Given the description of an element on the screen output the (x, y) to click on. 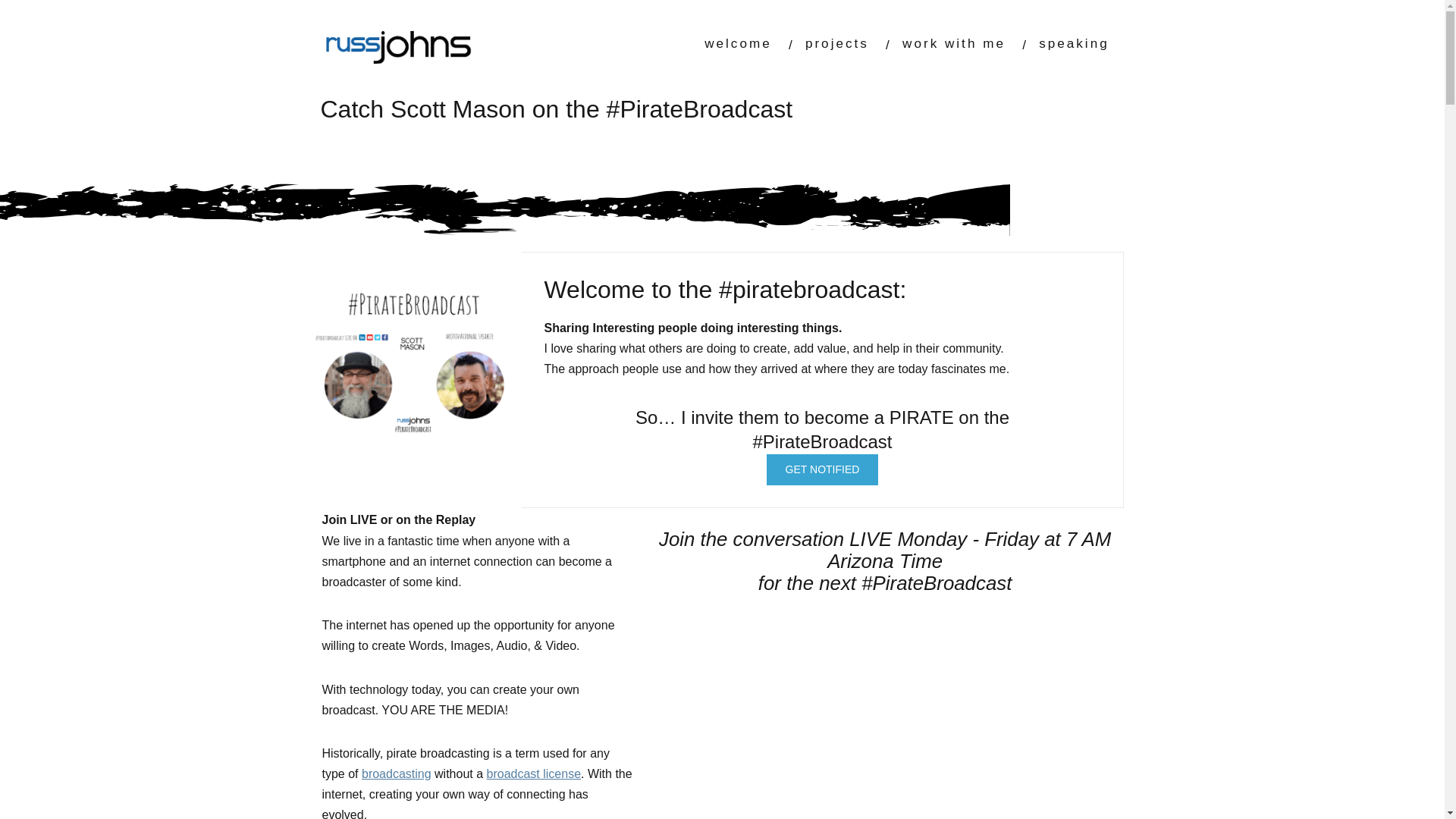
broadcast license (533, 773)
speaking (1073, 43)
broadcasting (395, 773)
welcome (738, 43)
Scott Mason Post Show (411, 380)
projects (836, 43)
Responsive Video (884, 717)
work with me (954, 43)
GET NOTIFIED (823, 470)
